Given the description of an element on the screen output the (x, y) to click on. 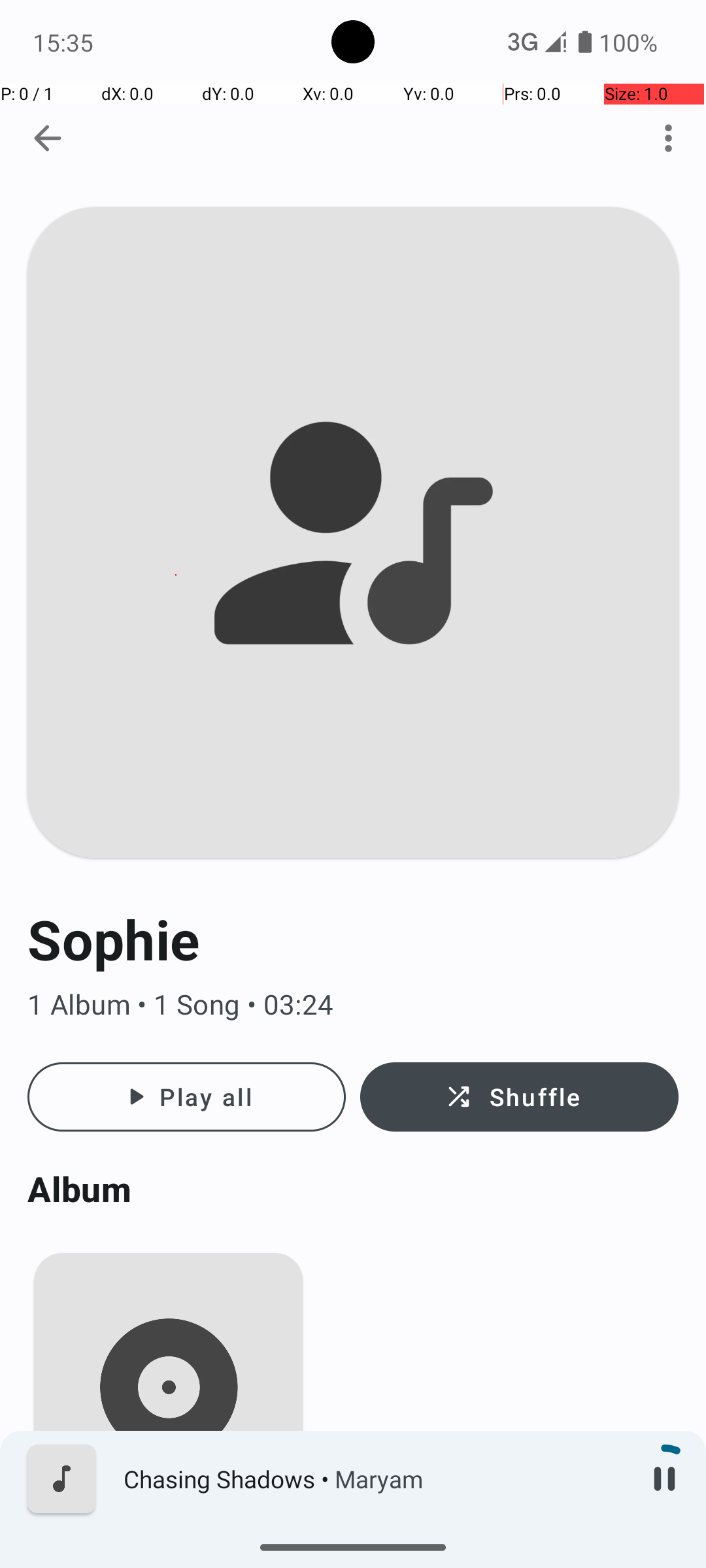
Sophie Element type: android.widget.TextView (352, 939)
1 Album • 1 Song • 03:24 Element type: android.widget.TextView (352, 1004)
Play all Element type: android.widget.Button (186, 1096)
Album Element type: android.widget.TextView (353, 1188)
Chasing Shadows • Maryam Element type: android.widget.TextView (372, 1478)
Music Element type: android.widget.TextView (168, 1544)
